Given the description of an element on the screen output the (x, y) to click on. 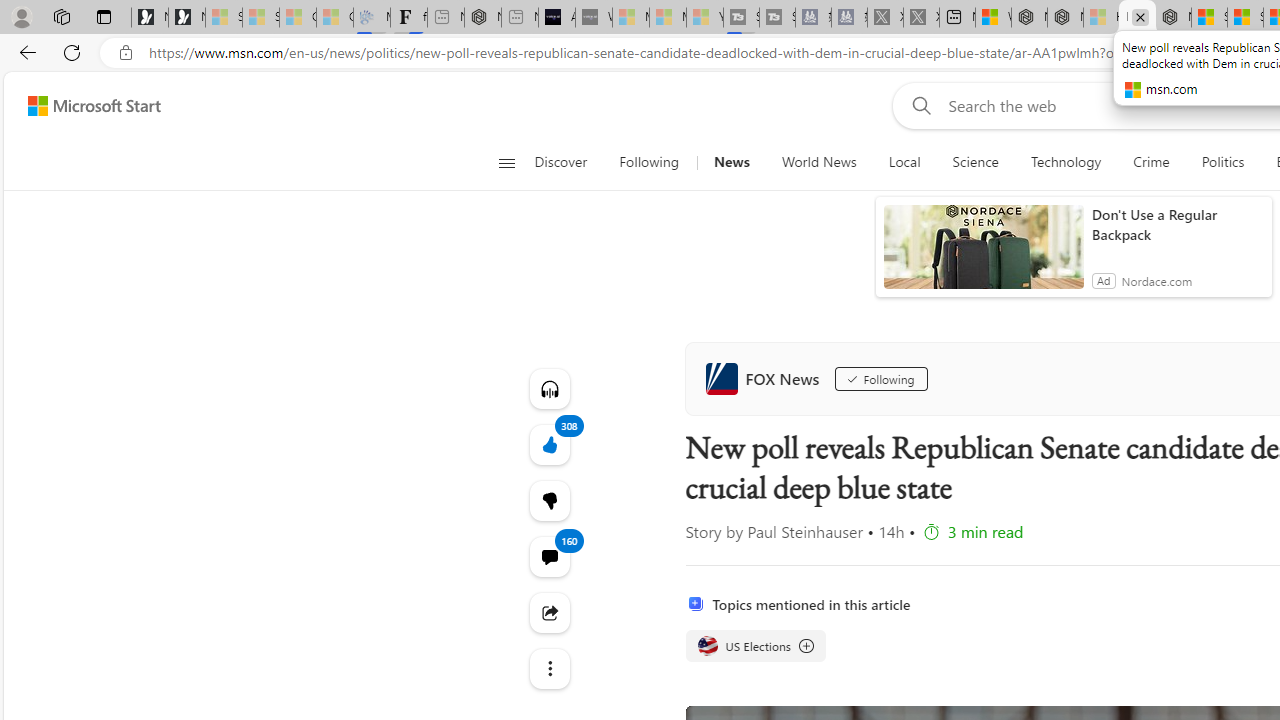
FOX News (766, 378)
Listen to this article (548, 388)
Crime (1151, 162)
Nordace - Nordace Siena Is Not An Ordinary Backpack (1173, 17)
What's the best AI voice generator? - voice.ai - Sleeping (593, 17)
View comments 160 Comment (548, 556)
